Given the description of an element on the screen output the (x, y) to click on. 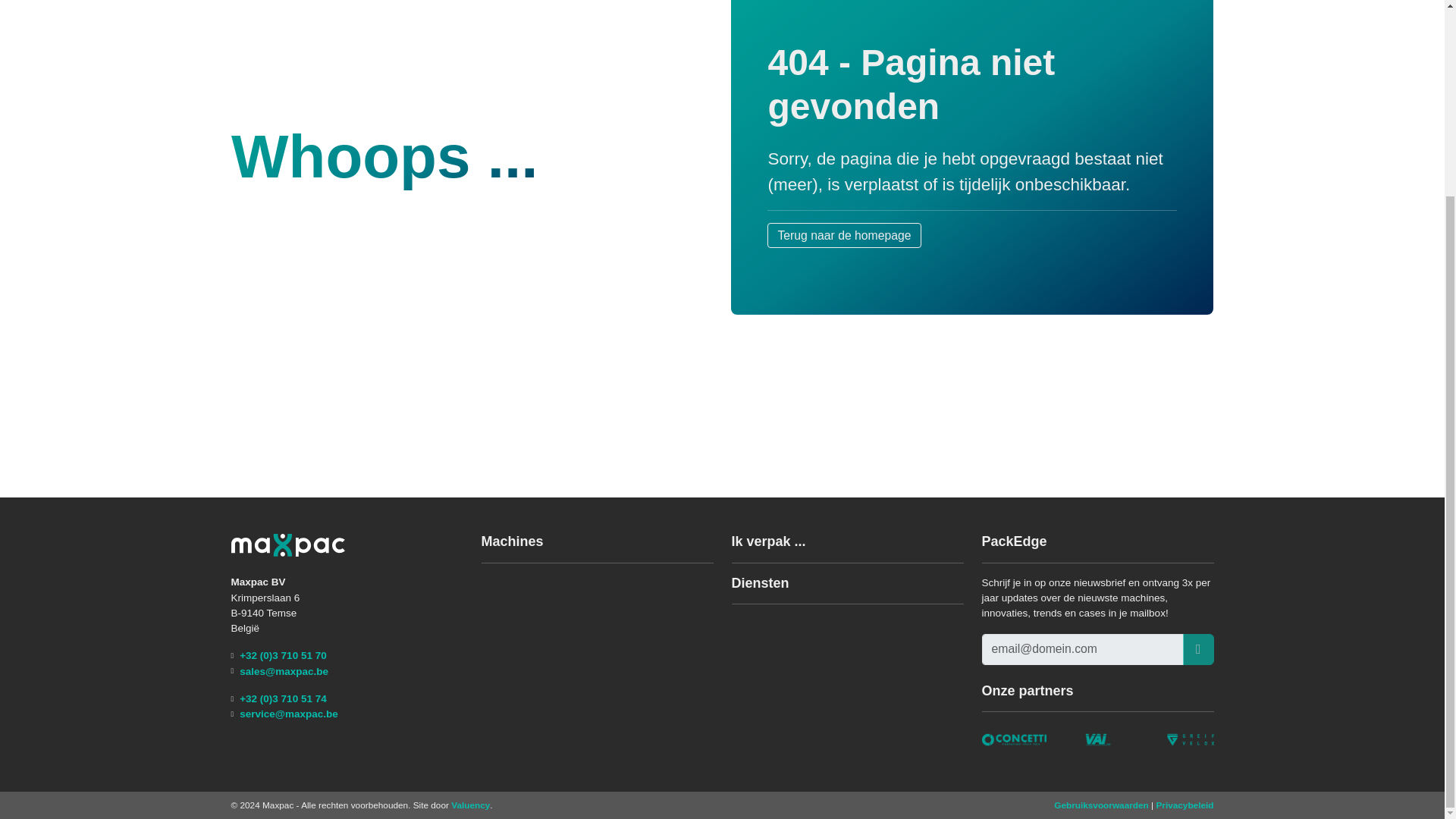
Gebruiksvoorwaarden (1101, 805)
Terug naar de homepage (843, 252)
Privacybeleid (1184, 805)
Valuency (470, 805)
